Given the description of an element on the screen output the (x, y) to click on. 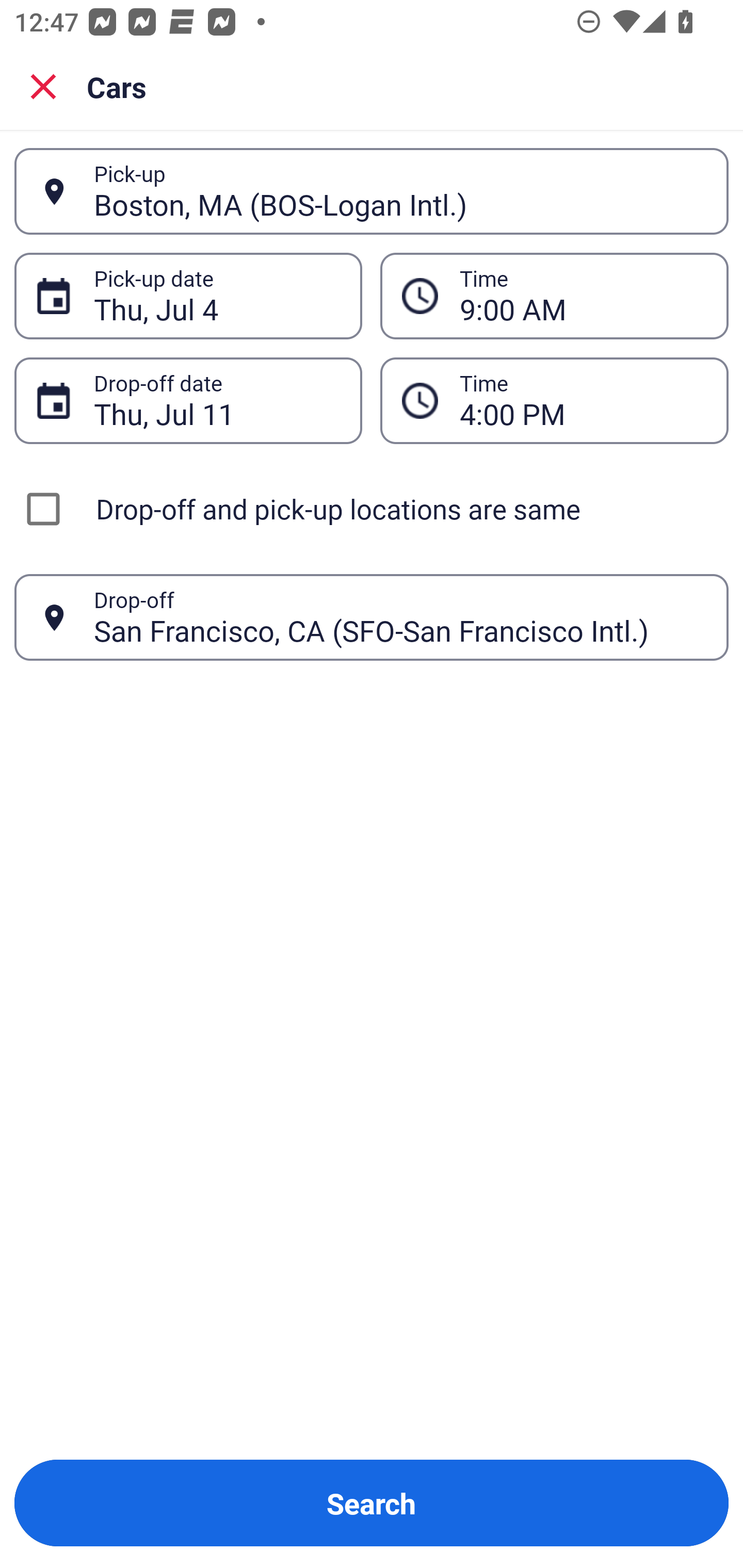
Close search screen (43, 86)
Boston, MA (BOS-Logan Intl.) Pick-up (371, 191)
Boston, MA (BOS-Logan Intl.) (399, 191)
Thu, Jul 4 Pick-up date (188, 295)
9:00 AM (554, 295)
Thu, Jul 4 (216, 296)
9:00 AM (582, 296)
Thu, Jul 11 Drop-off date (188, 400)
4:00 PM (554, 400)
Thu, Jul 11 (216, 400)
4:00 PM (582, 400)
Drop-off and pick-up locations are same (371, 508)
San Francisco, CA (SFO-San Francisco Intl.) (399, 616)
Search Button Search (371, 1502)
